Given the description of an element on the screen output the (x, y) to click on. 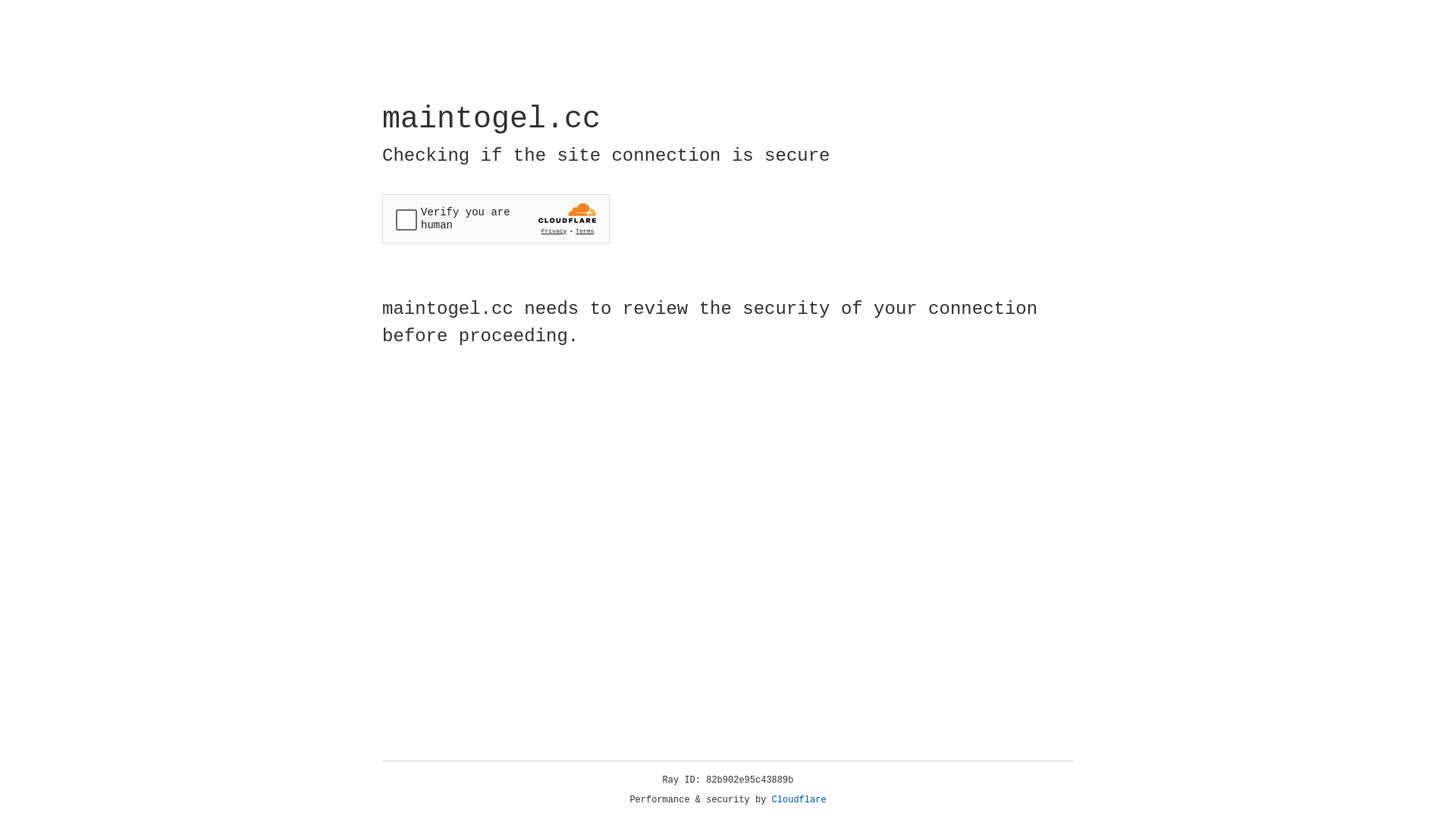
Cloudflare Element type: text (798, 799)
Widget containing a Cloudflare security challenge Element type: hover (495, 218)
